Given the description of an element on the screen output the (x, y) to click on. 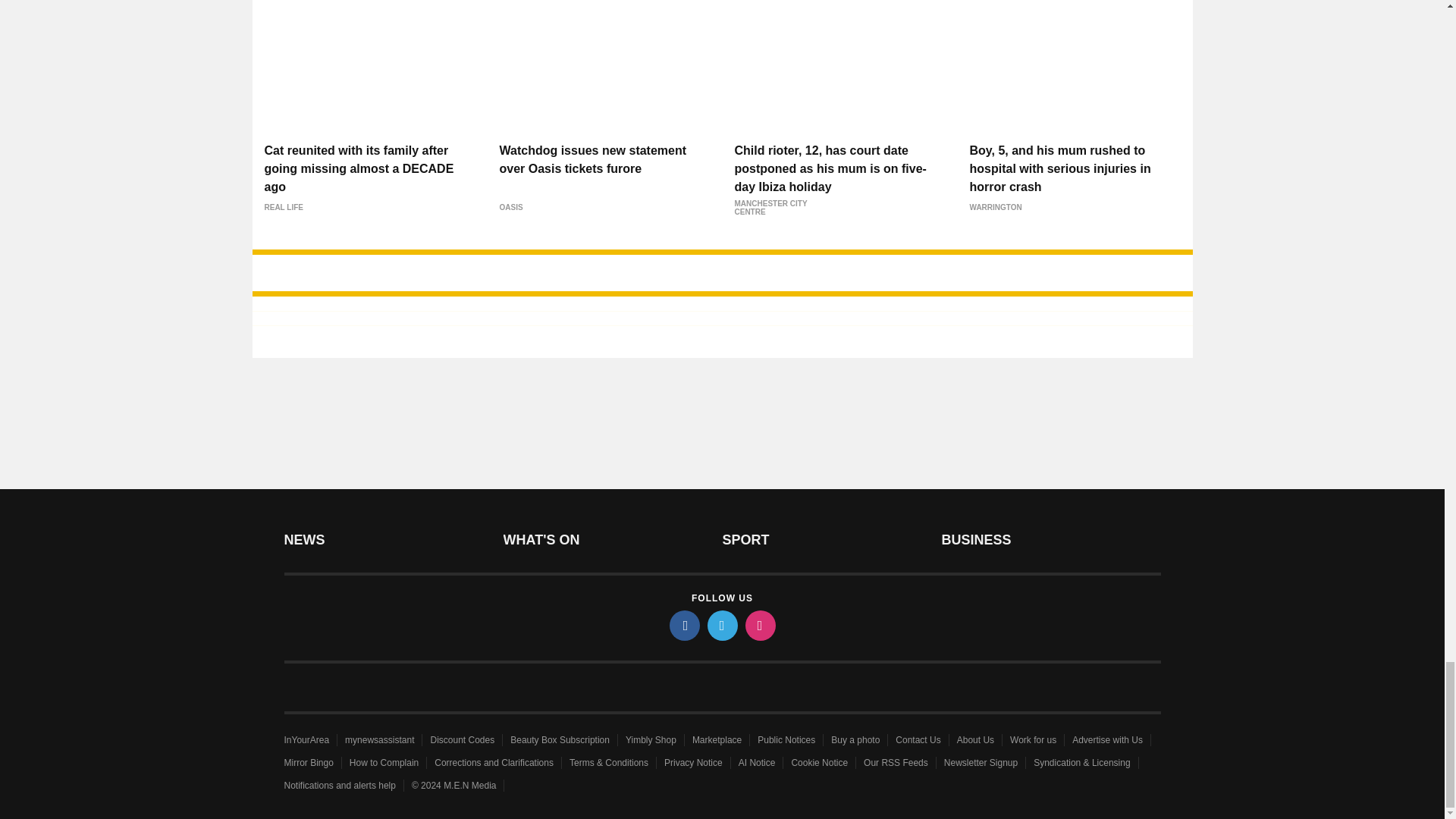
facebook (683, 625)
instagram (759, 625)
twitter (721, 625)
